Given the description of an element on the screen output the (x, y) to click on. 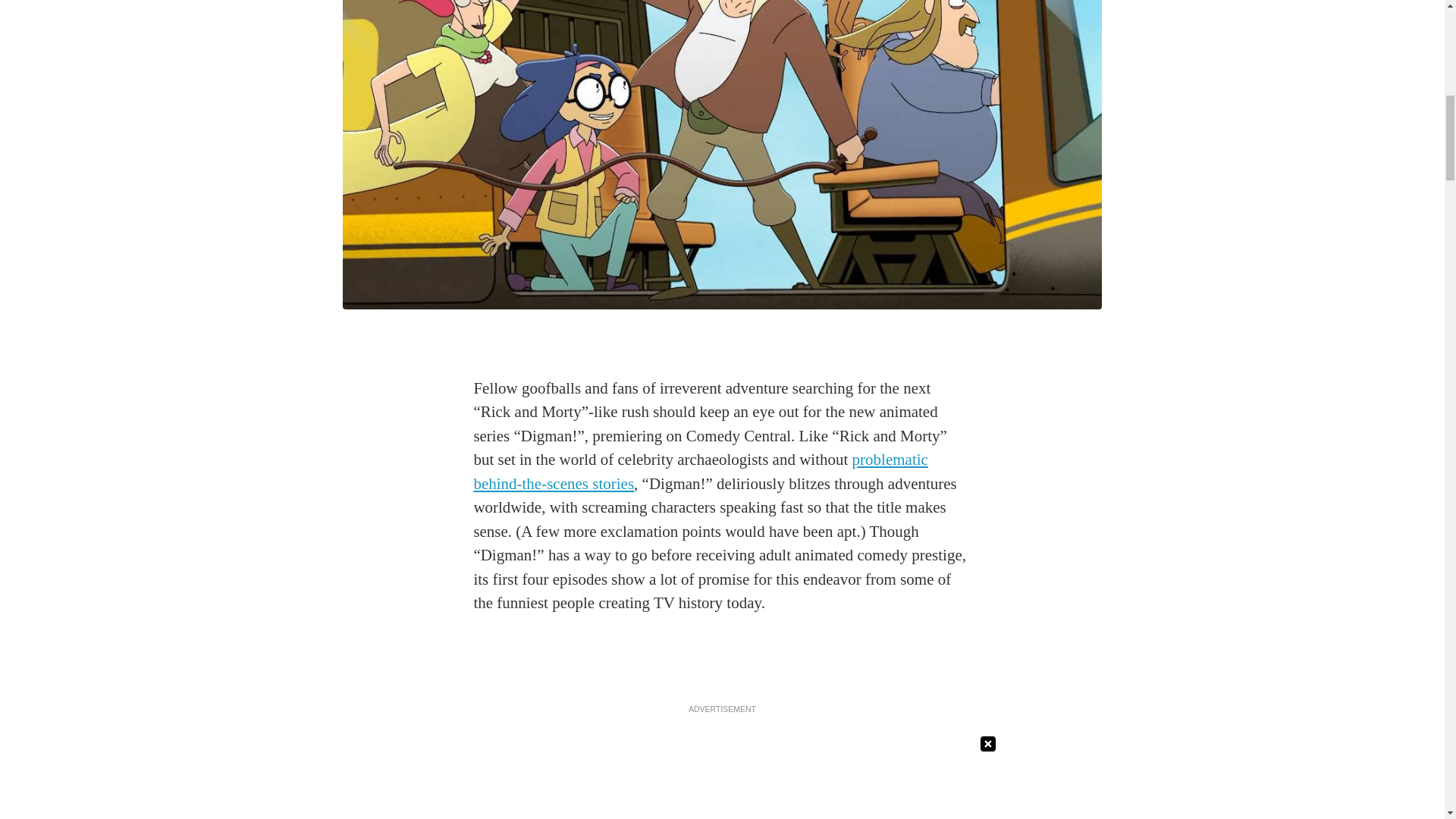
problematic behind-the-scenes stories (700, 471)
3rd party ad content (722, 769)
